Given the description of an element on the screen output the (x, y) to click on. 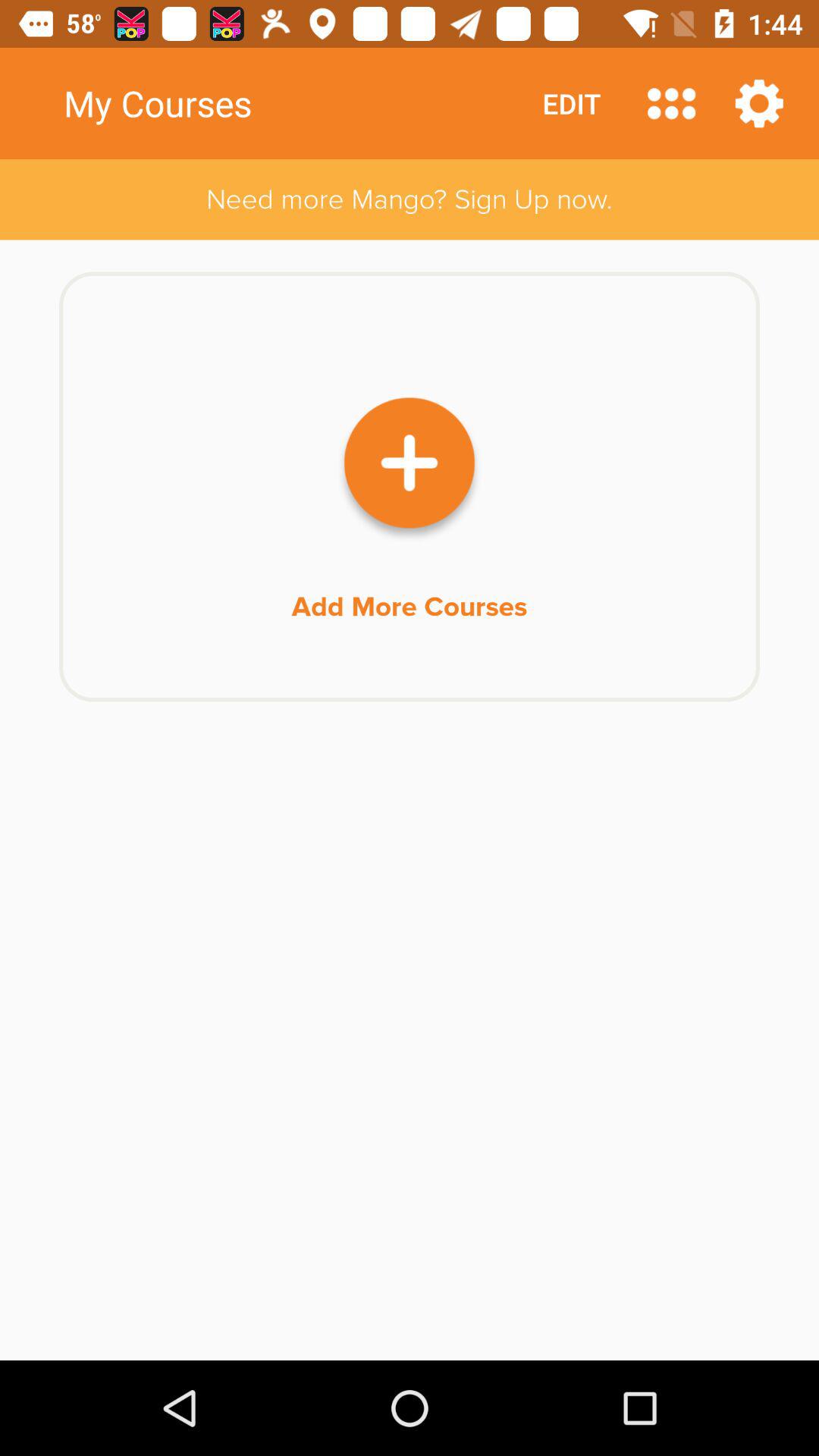
tap the edit (571, 103)
